Given the description of an element on the screen output the (x, y) to click on. 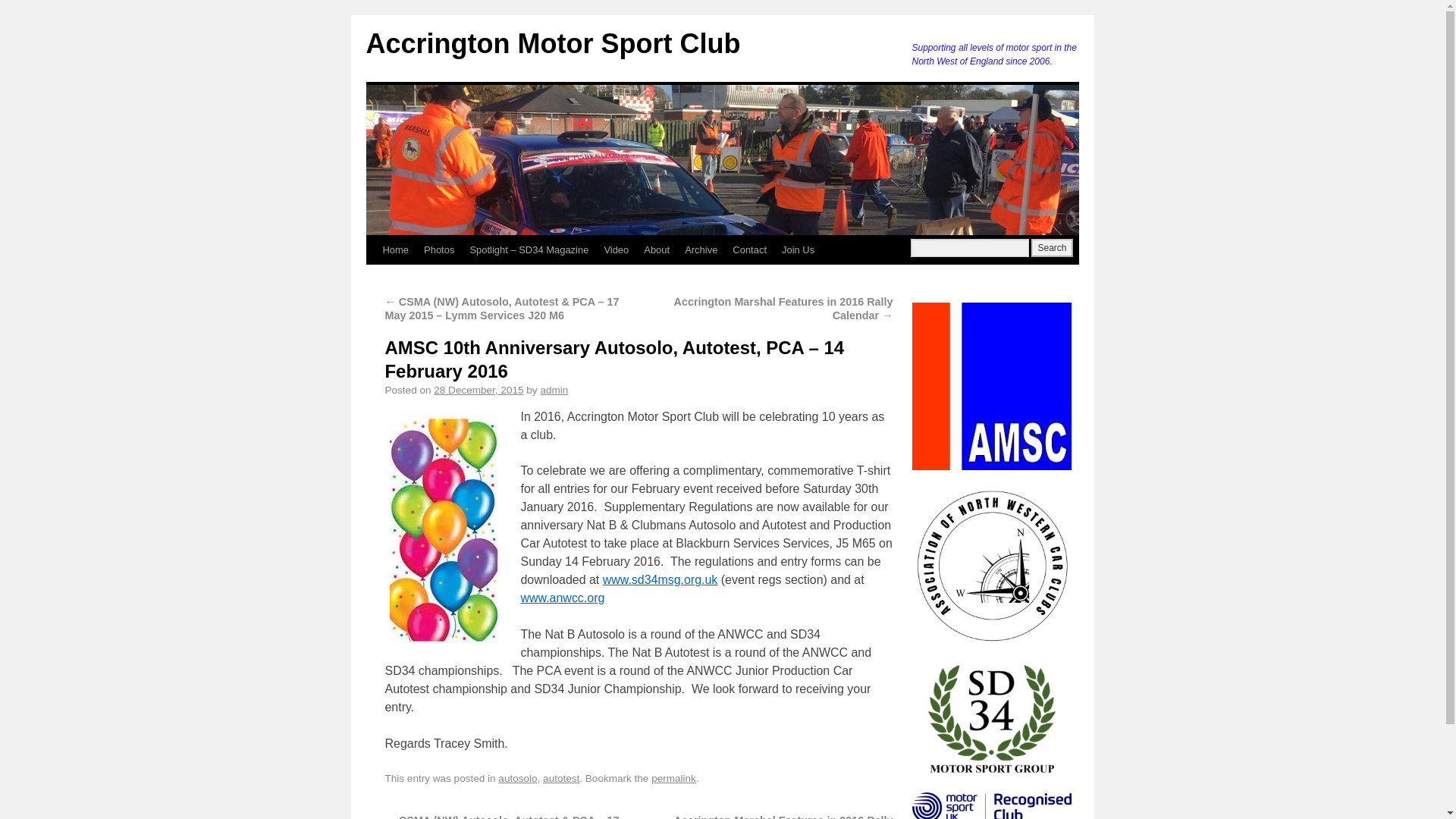
28 December, 2015 (477, 389)
autotest (561, 778)
Search (1050, 248)
www.anwcc.org (561, 597)
View all posts by admin (553, 389)
www.sd34msg.org.uk (659, 579)
Accrington Motor Sport Club (552, 42)
Archive (701, 249)
Contact (749, 249)
Photos (438, 249)
